Given the description of an element on the screen output the (x, y) to click on. 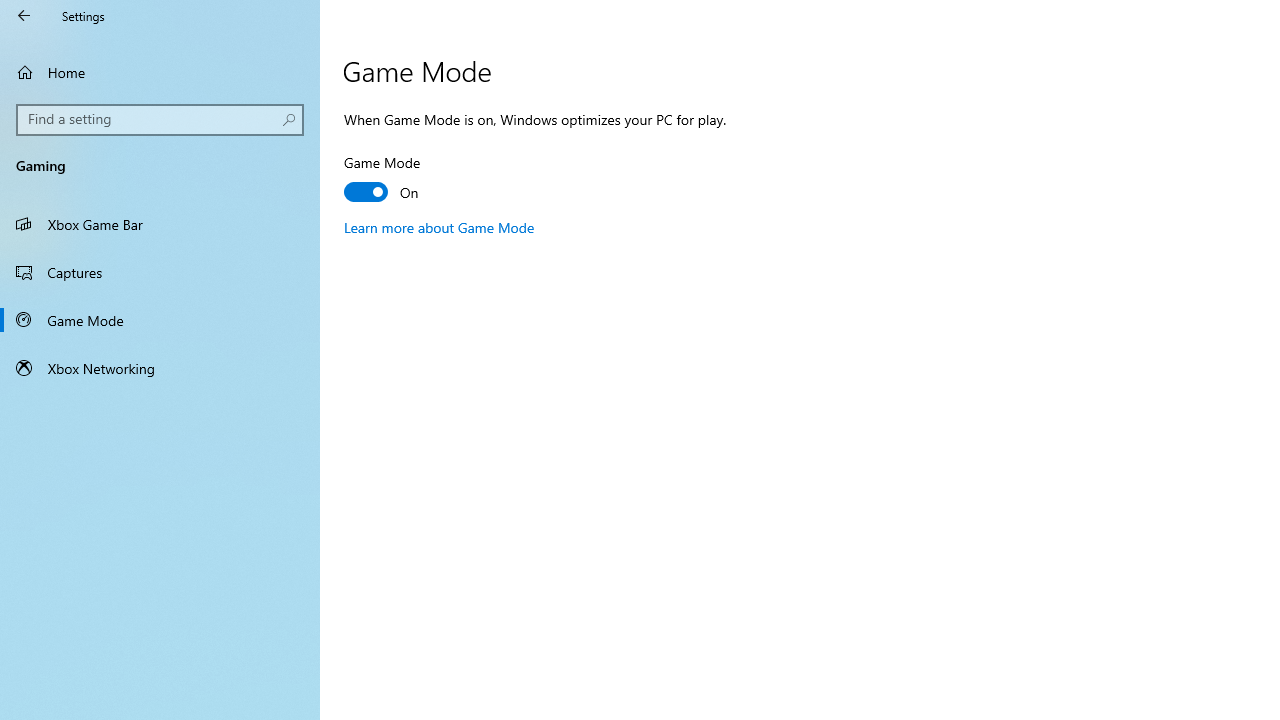
Xbox Networking (160, 367)
Xbox Game Bar (160, 223)
Back (24, 15)
Game Mode (417, 180)
Captures (160, 271)
Game Mode (160, 319)
Home (160, 71)
Learn more about Game Mode (439, 227)
Search box, Find a setting (160, 119)
